Given the description of an element on the screen output the (x, y) to click on. 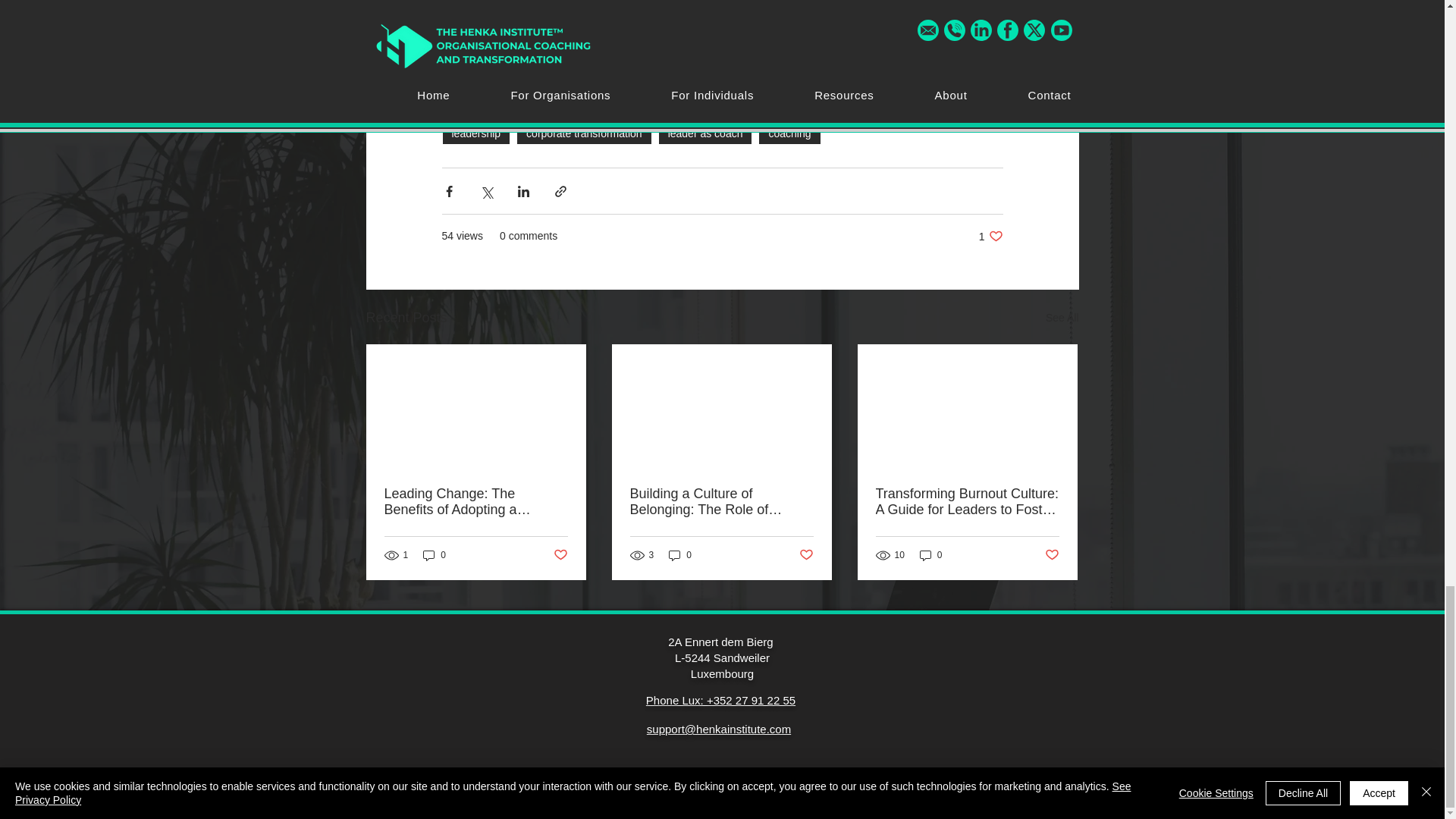
leadership (476, 133)
corporate transformation (584, 133)
leader as coach (705, 133)
coaching (789, 133)
